Given the description of an element on the screen output the (x, y) to click on. 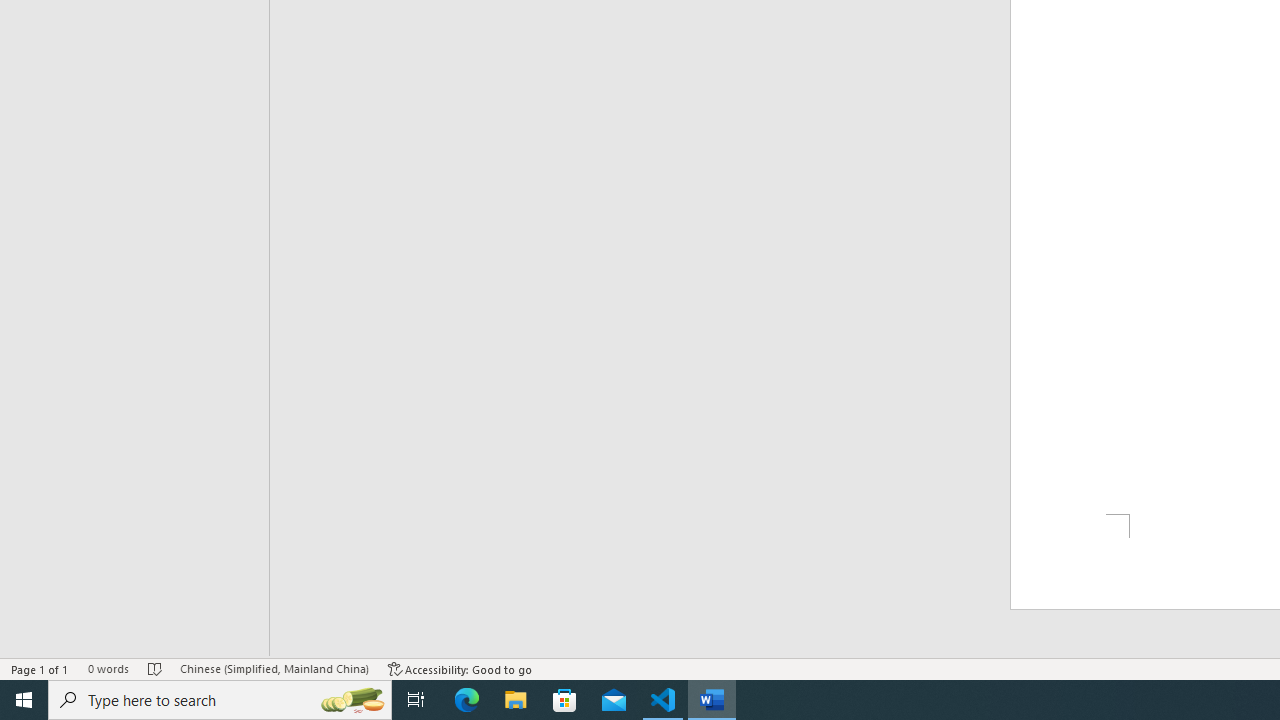
Page Number Page 1 of 1 (39, 668)
Language Chinese (Simplified, Mainland China) (274, 668)
Accessibility Checker Accessibility: Good to go (460, 668)
Spelling and Grammar Check No Errors (155, 668)
